Given the description of an element on the screen output the (x, y) to click on. 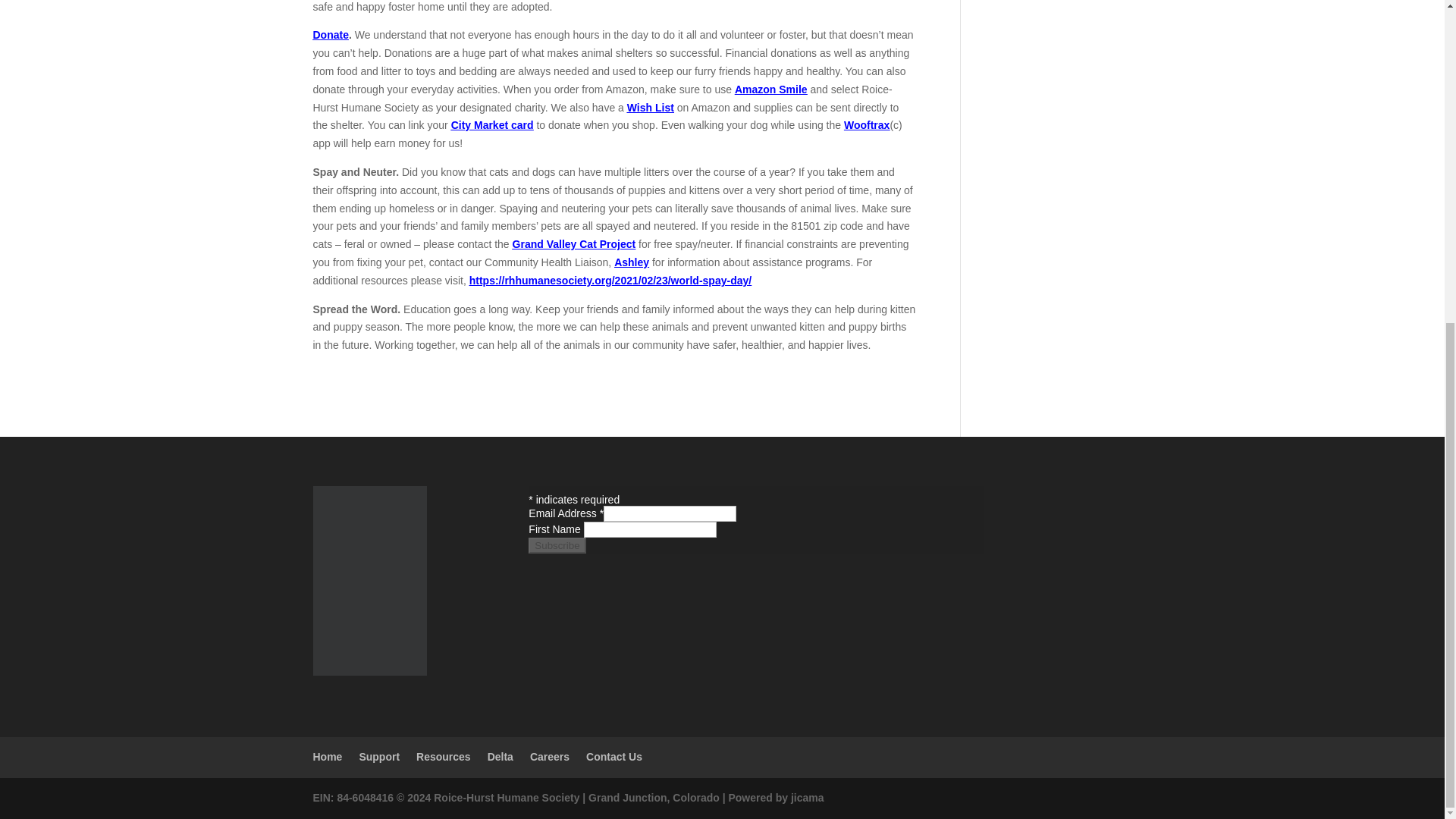
Subscribe (556, 545)
